Given the description of an element on the screen output the (x, y) to click on. 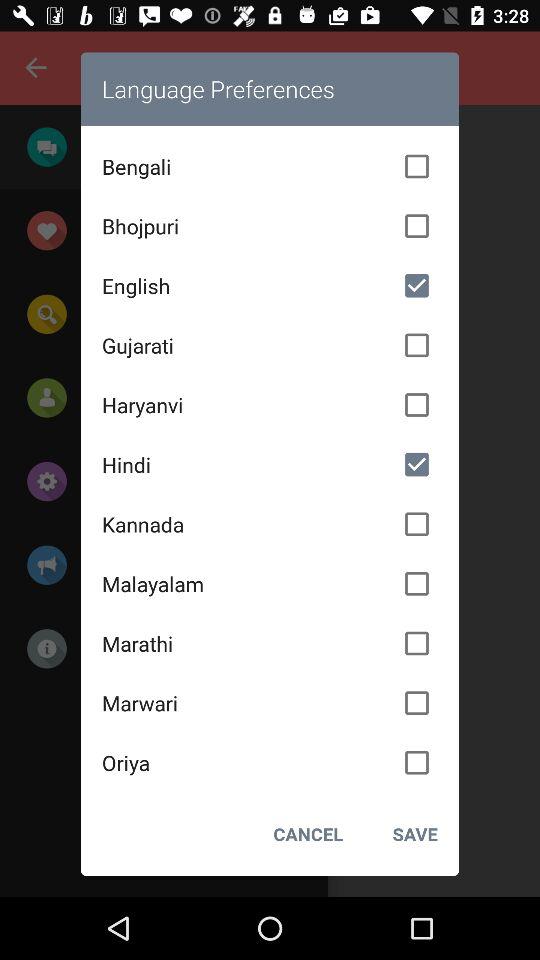
choose icon above the oriya (270, 703)
